Given the description of an element on the screen output the (x, y) to click on. 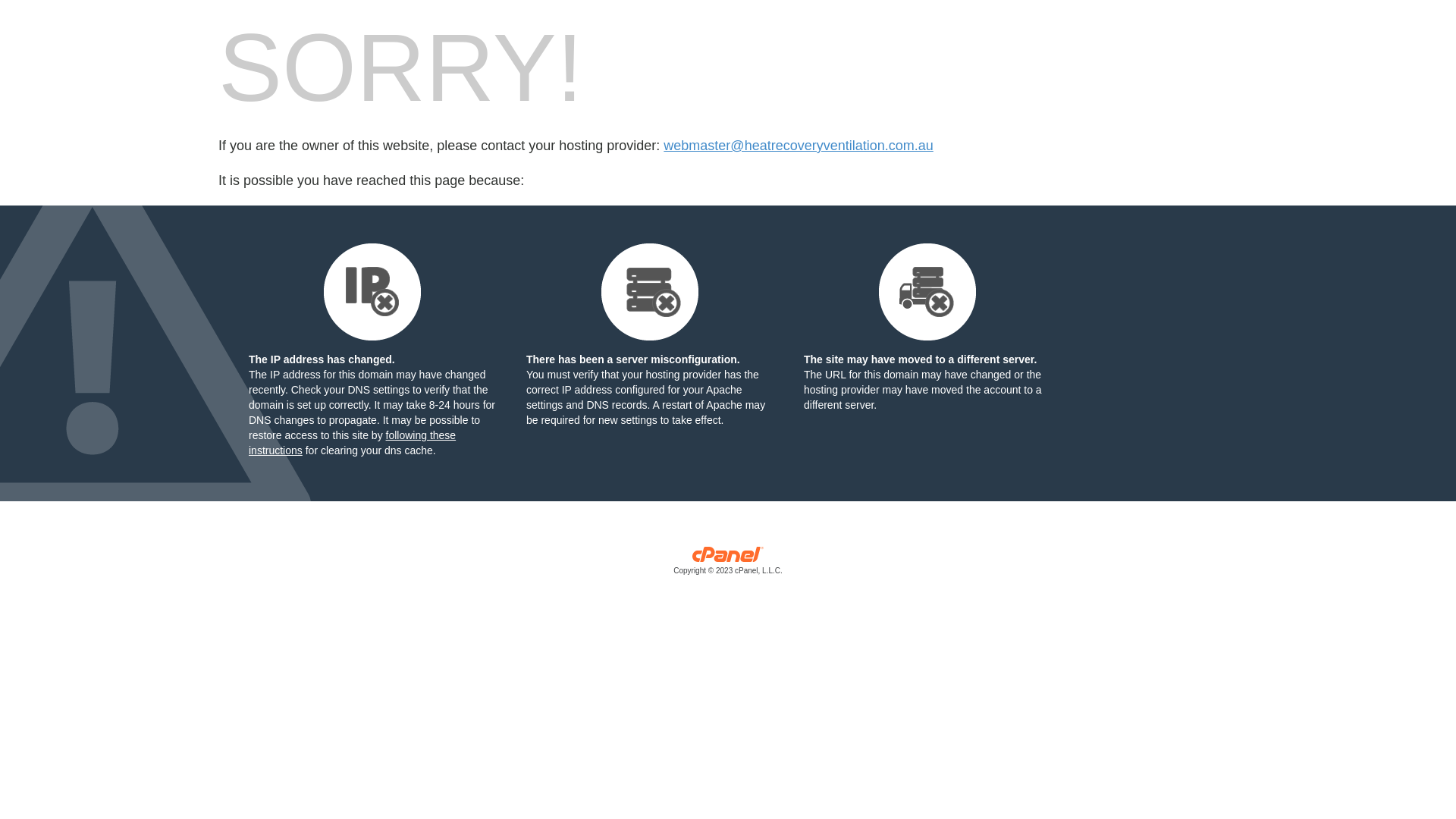
following these instructions Element type: text (351, 442)
webmaster@heatrecoveryventilation.com.au Element type: text (797, 145)
